Given the description of an element on the screen output the (x, y) to click on. 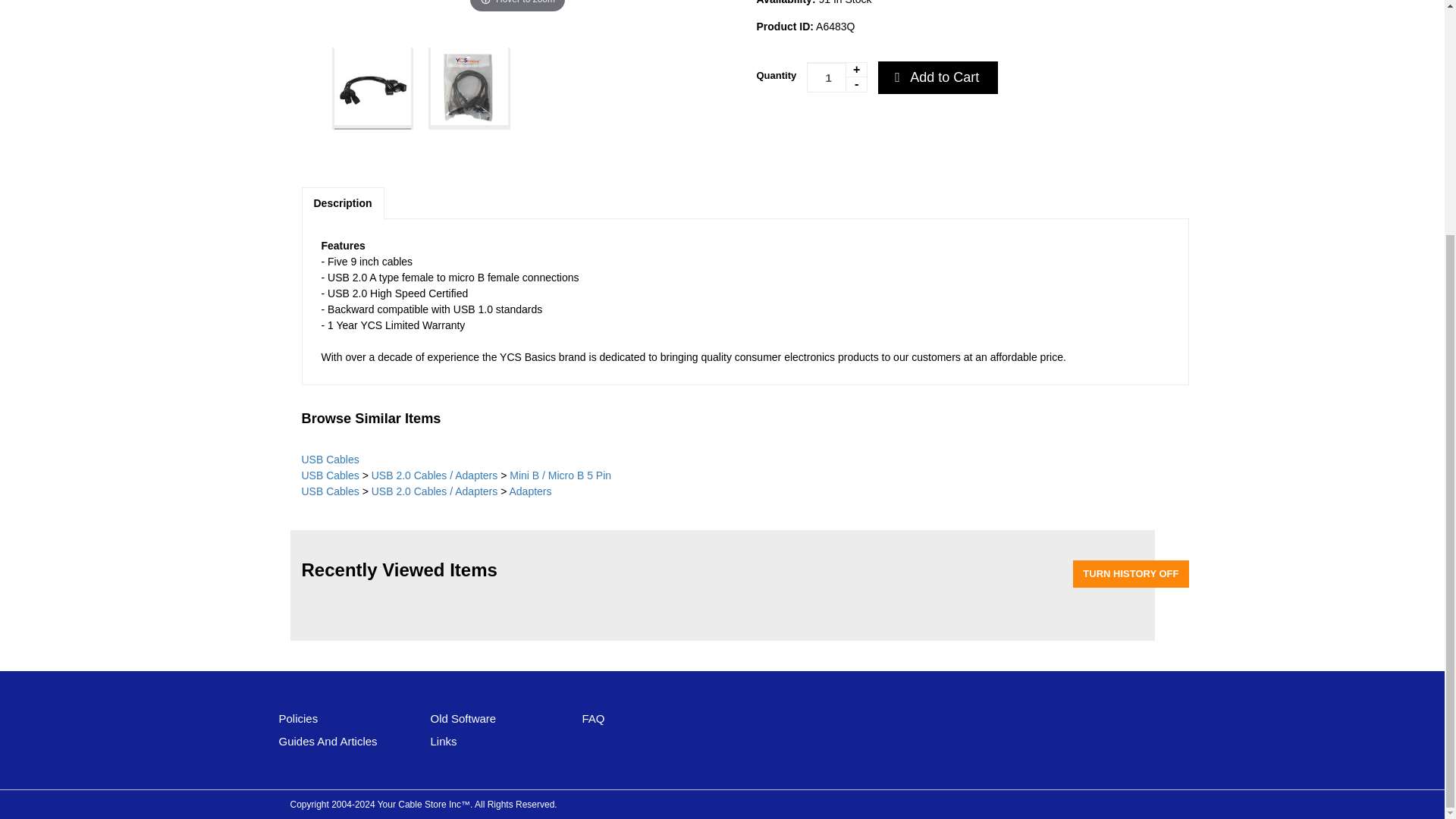
1 (836, 77)
